Given the description of an element on the screen output the (x, y) to click on. 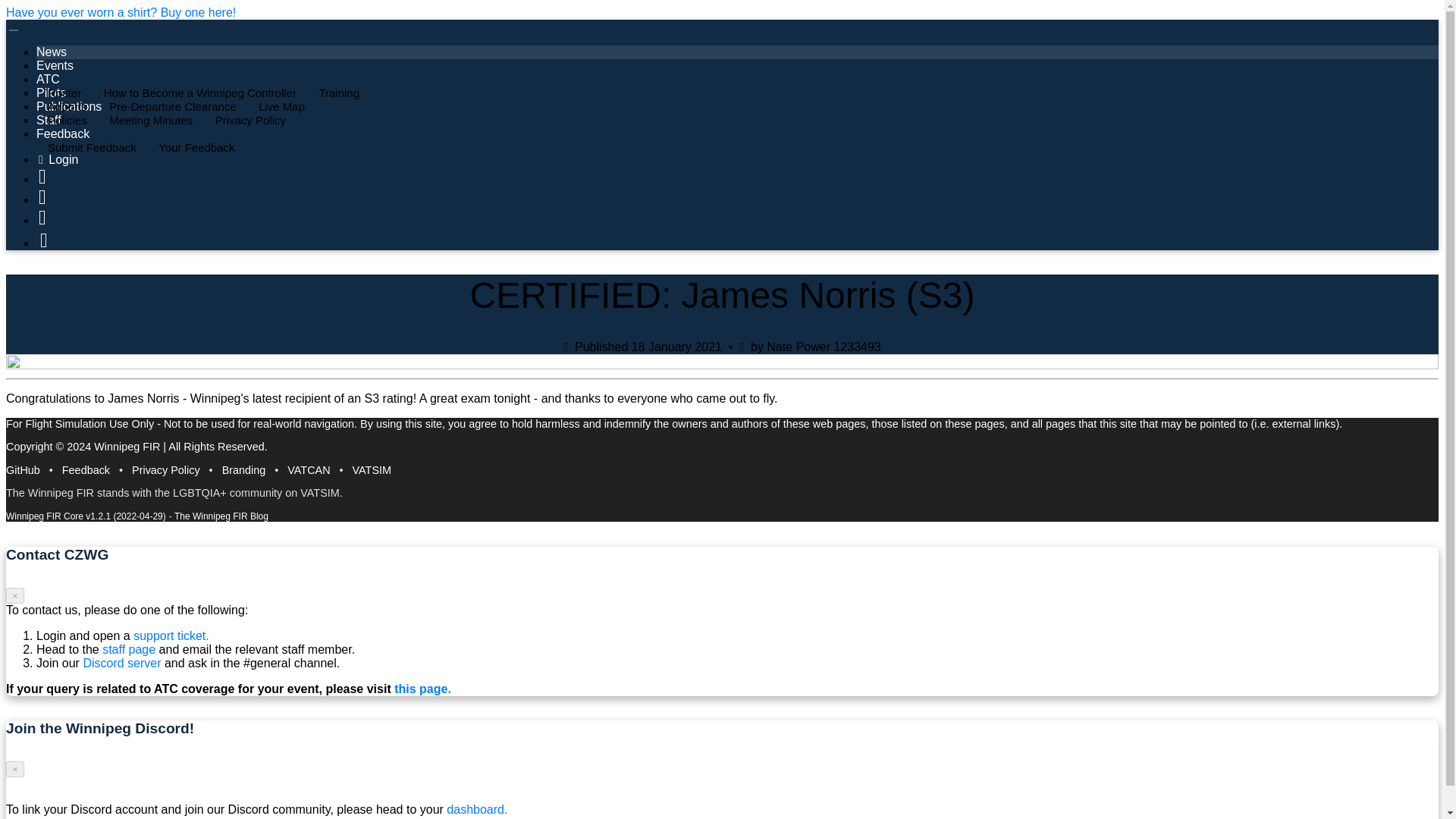
How to Become a Winnipeg Controller (198, 92)
Discord server (121, 662)
Pre-Departure Clearance (170, 106)
Airports (65, 106)
Feedback (86, 469)
VATSIM (371, 469)
Training (336, 92)
Meeting Minutes (148, 120)
Branding (244, 469)
Roster (62, 92)
